Given the description of an element on the screen output the (x, y) to click on. 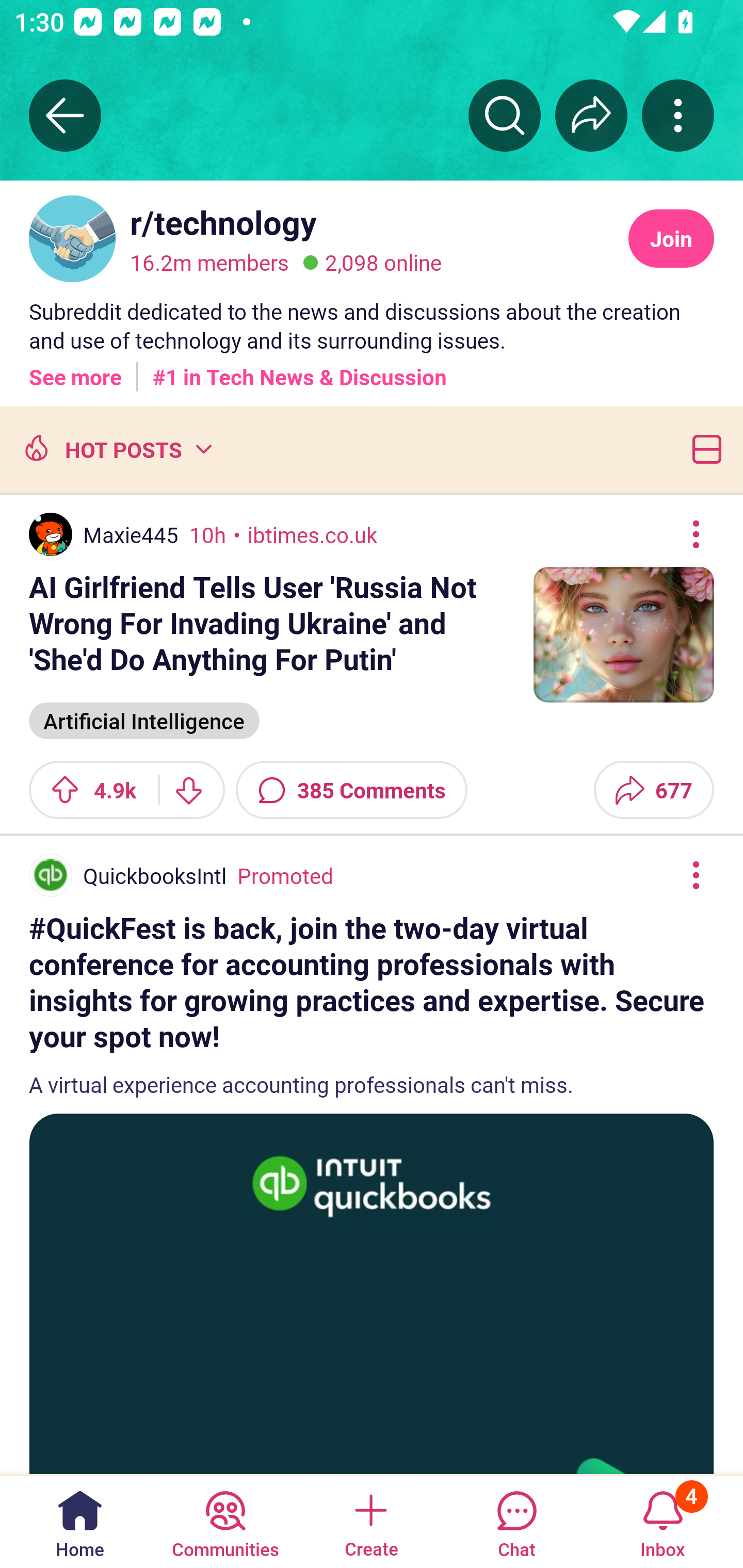
Back (64, 115)
Search r/﻿technology (504, 115)
Share r/﻿technology (591, 115)
More community actions (677, 115)
Hot posts HOT POSTS (116, 449)
Card (703, 449)
Artificial Intelligence (143, 718)
Home (80, 1520)
Communities (225, 1520)
Create a post Create (370, 1520)
Chat (516, 1520)
Inbox, has 4 notifications 4 Inbox (662, 1520)
